Given the description of an element on the screen output the (x, y) to click on. 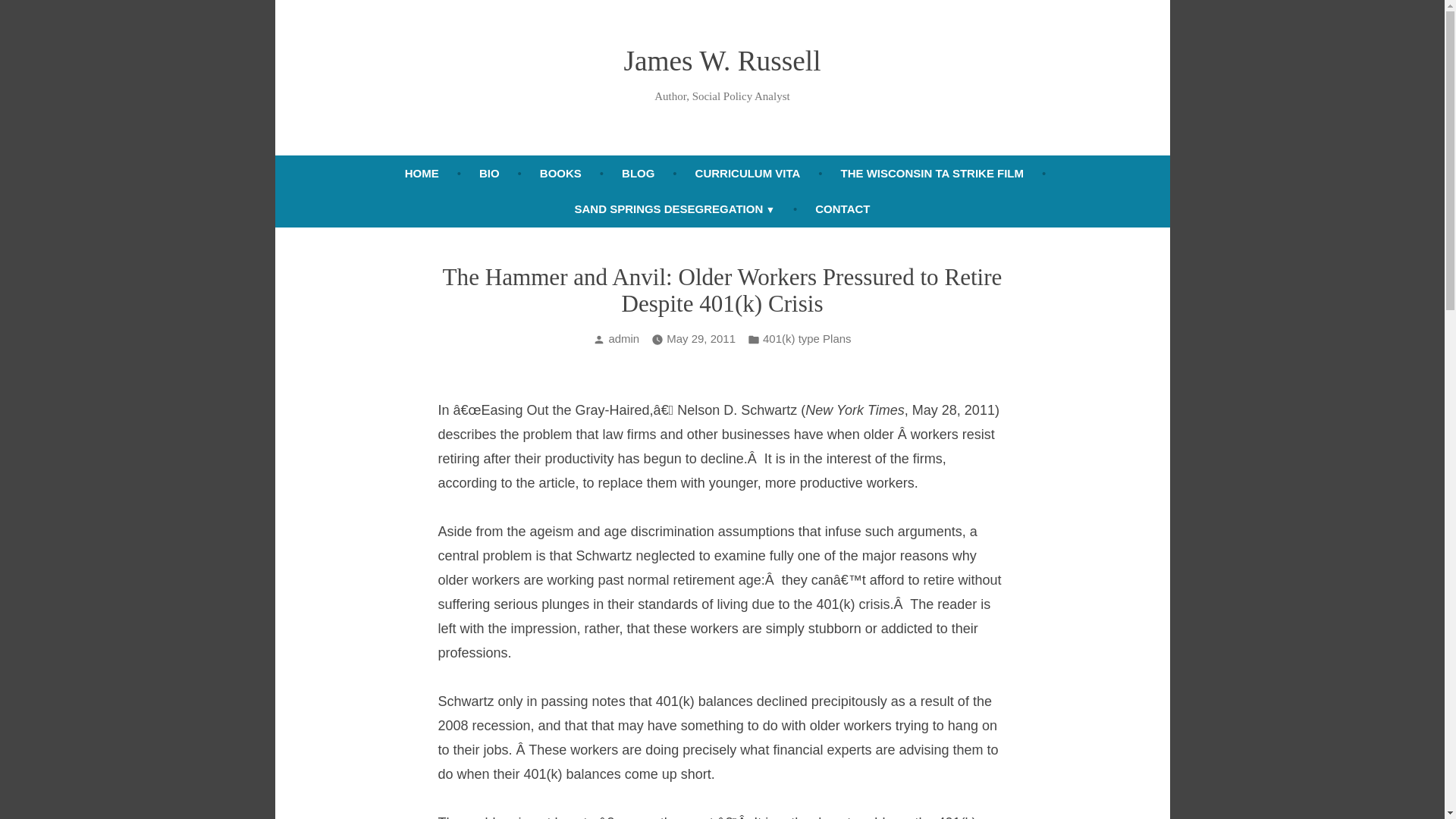
admin (623, 338)
CURRICULUM VITA (747, 172)
BOOKS (560, 172)
BLOG (638, 172)
THE WISCONSIN TA STRIKE FILM (931, 172)
May 29, 2011 (700, 339)
CONTACT (842, 208)
SAND SPRINGS DESEGREGATION (674, 208)
James W. Russell (722, 60)
HOME (422, 172)
BIO (489, 172)
